Given the description of an element on the screen output the (x, y) to click on. 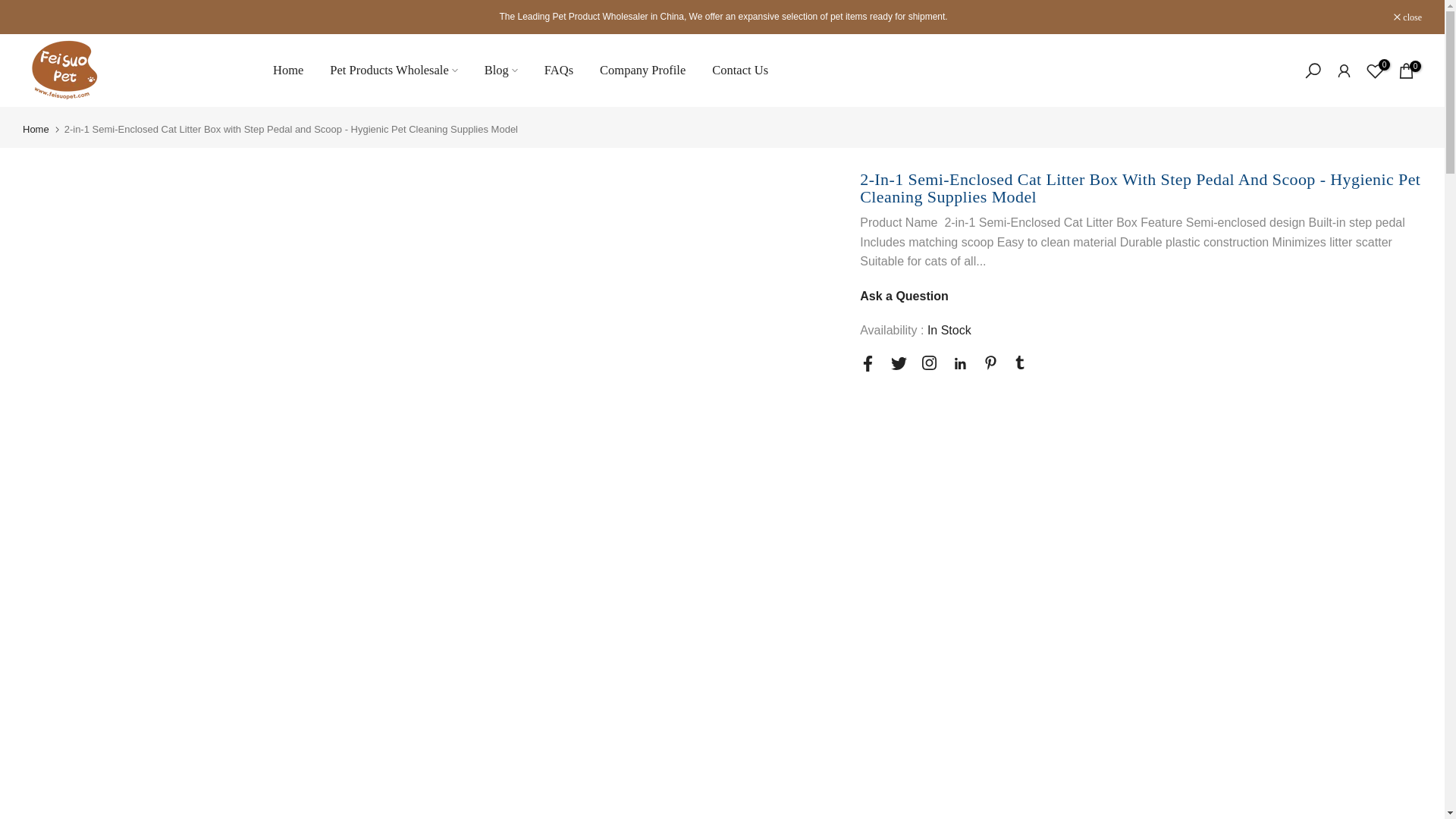
Home (287, 70)
FAQs (558, 70)
Follow on Linkedin (960, 363)
Follow on Tumblr (1019, 362)
Contact Us (739, 70)
Ask a Question (903, 295)
Follow on Pinterest (990, 362)
Pet Products Wholesale (393, 70)
Company Profile (642, 70)
Follow on Facebook (868, 363)
Follow on Twitter (899, 363)
0 (1374, 69)
Blog (500, 70)
close (1407, 16)
Follow on Instagram (928, 362)
